Given the description of an element on the screen output the (x, y) to click on. 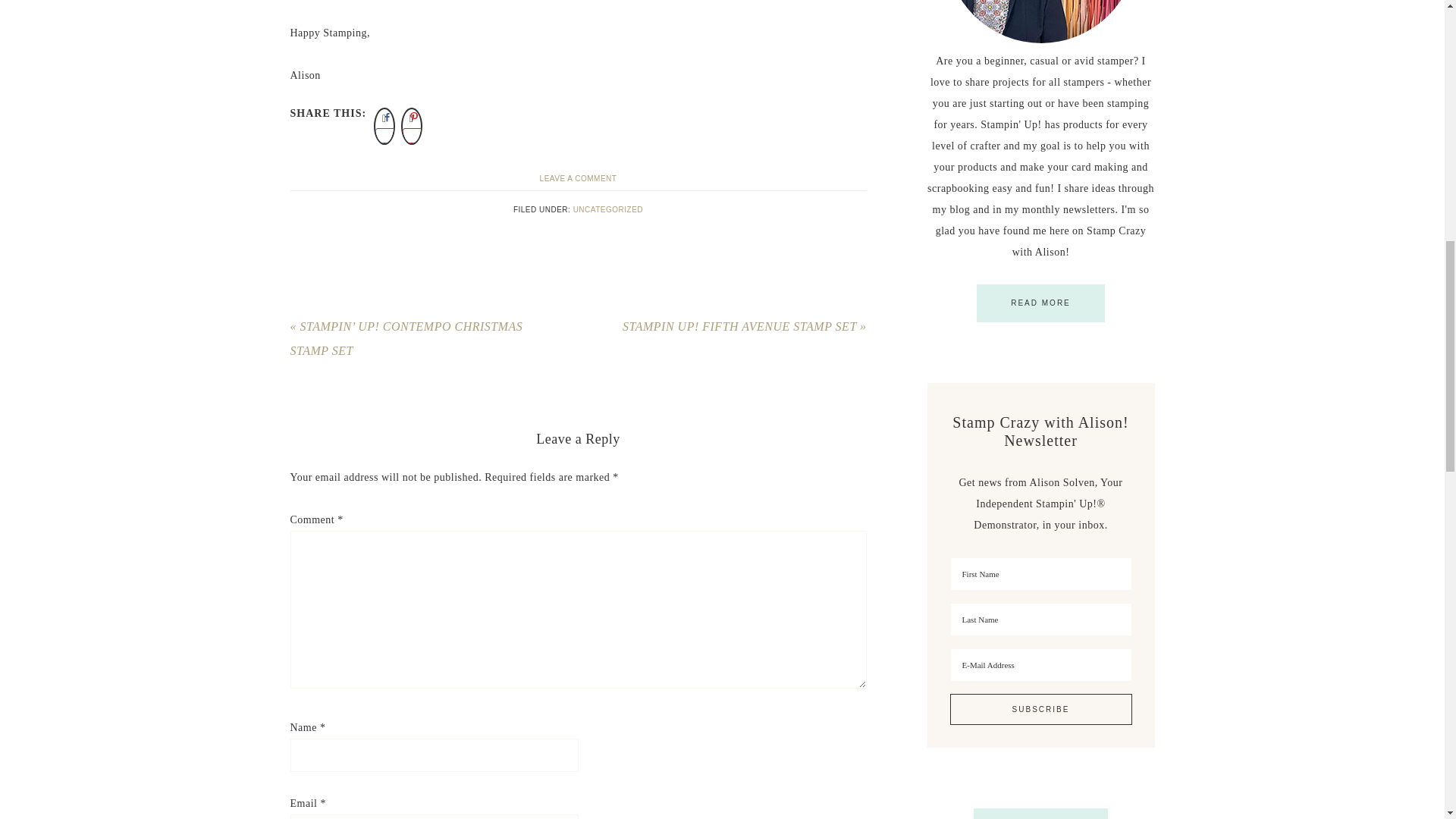
UNCATEGORIZED (608, 209)
CATALOGUES (1041, 813)
Pin (427, 135)
LEAVE A COMMENT (578, 178)
Share (400, 135)
READ MORE (1040, 303)
Subscribe (1040, 708)
Subscribe (1040, 708)
